Given the description of an element on the screen output the (x, y) to click on. 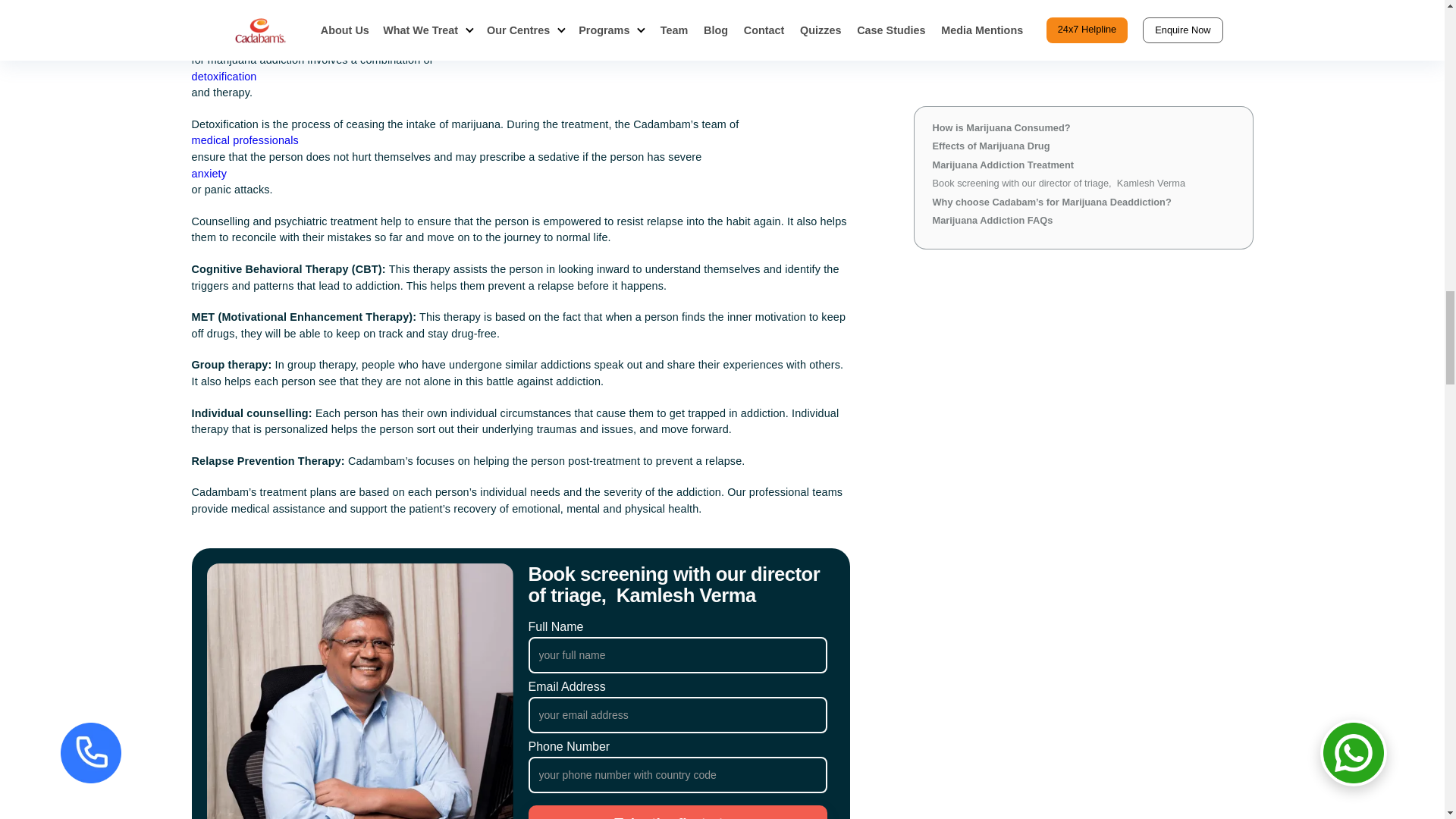
Take the first step (677, 812)
